Given the description of an element on the screen output the (x, y) to click on. 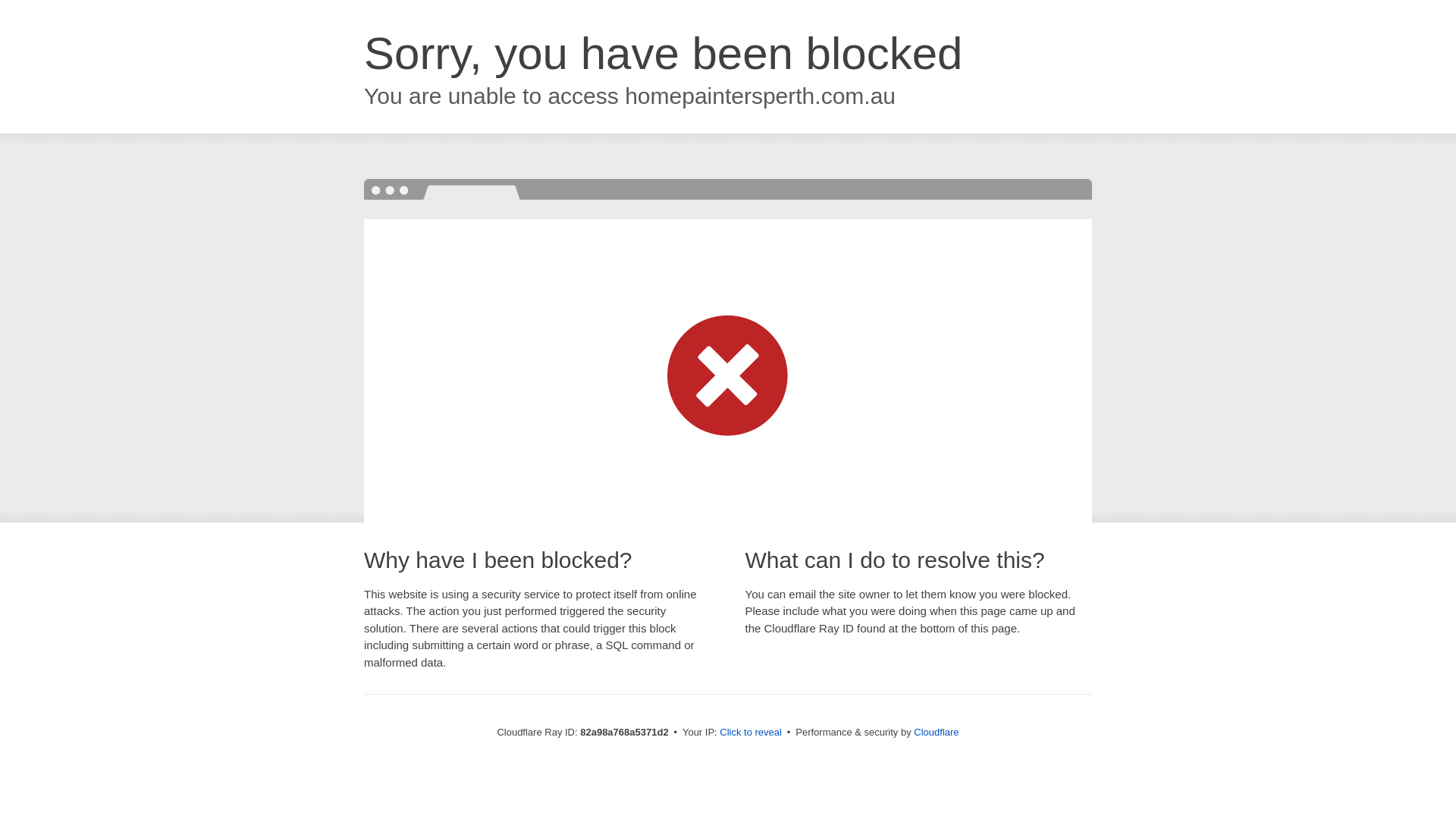
Click to reveal Element type: text (750, 732)
Cloudflare Element type: text (935, 731)
